Given the description of an element on the screen output the (x, y) to click on. 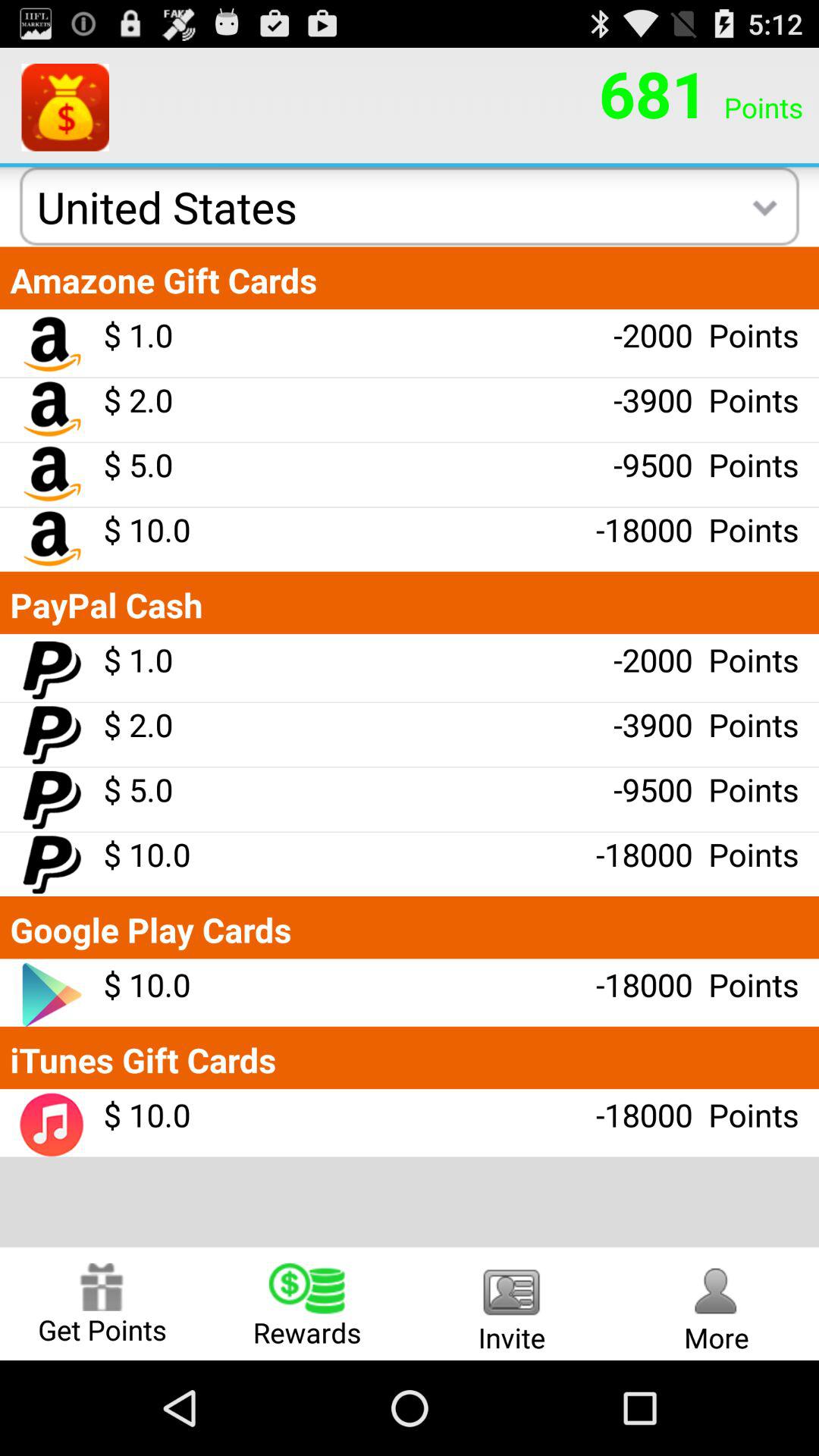
press the icon next to the rewards icon (102, 1303)
